Given the description of an element on the screen output the (x, y) to click on. 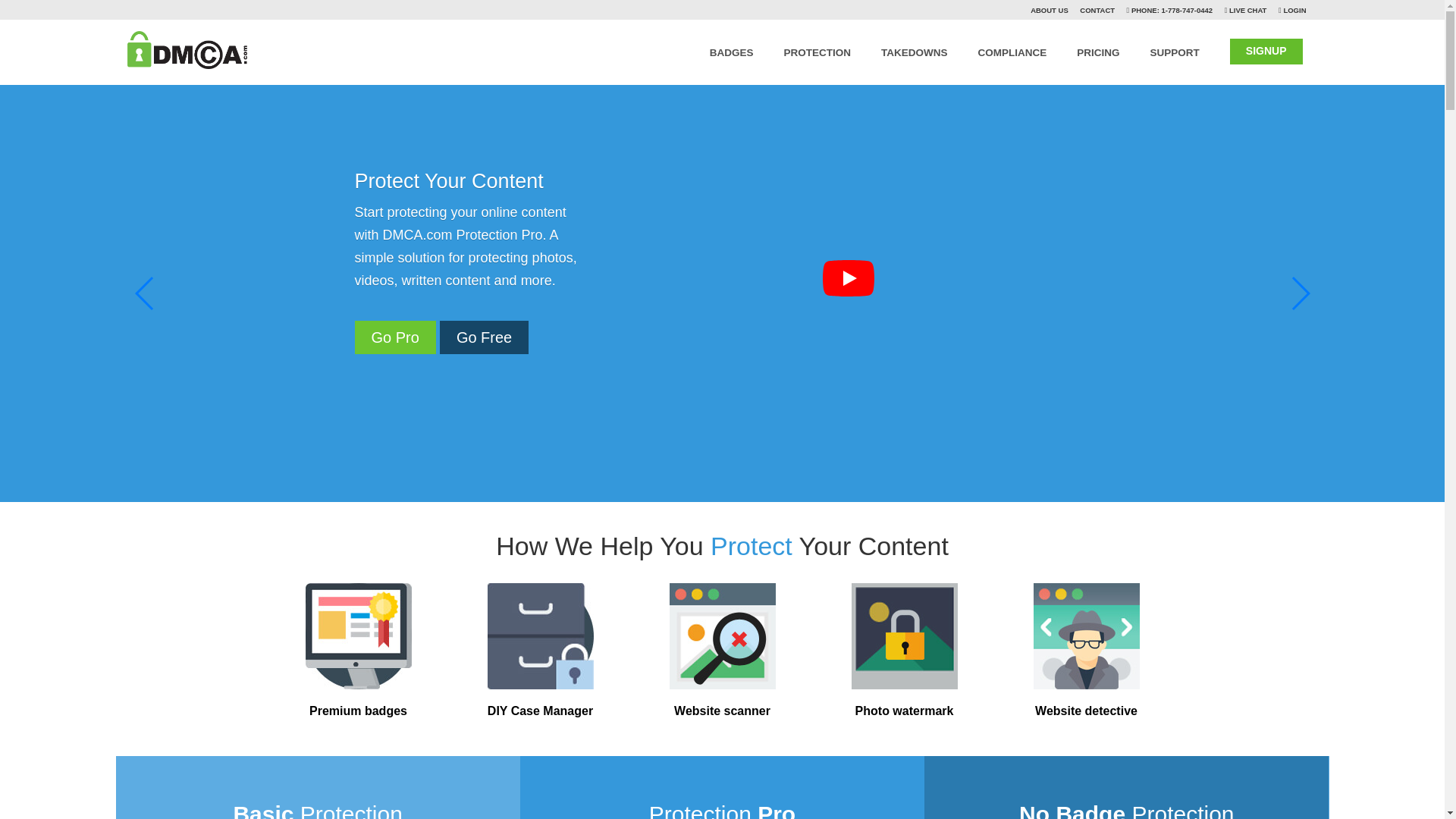
ABOUT US (1049, 9)
PROTECTION (817, 48)
CONTACT (1097, 9)
BADGES (732, 48)
PHONE: 1-778-747-0442 (1170, 9)
LIVE CHAT (1246, 9)
LOGIN (1294, 9)
